Given the description of an element on the screen output the (x, y) to click on. 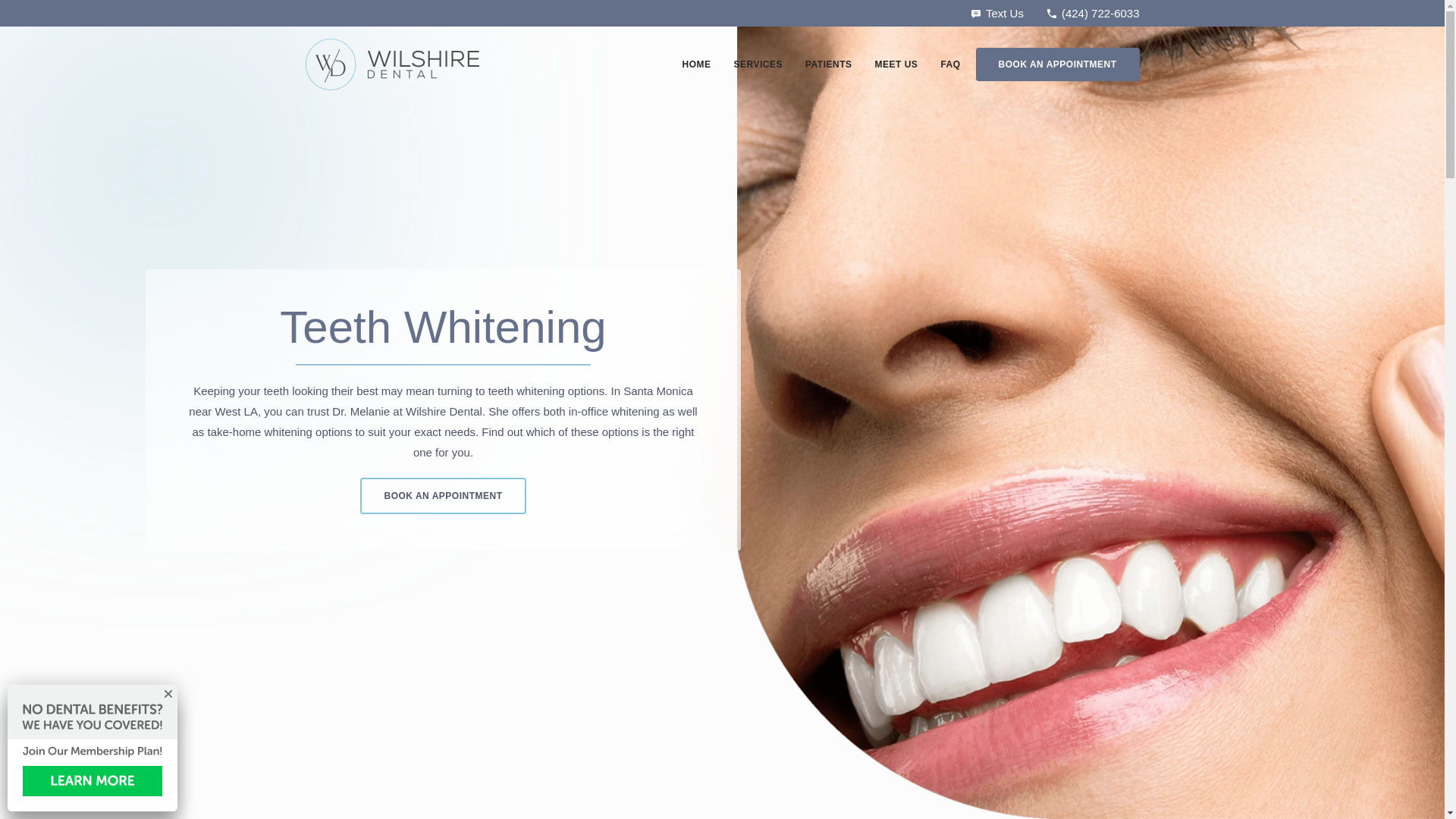
MEET US (896, 64)
BOOK AN APPOINTMENT (1057, 64)
Text Us (997, 13)
BOOK AN APPOINTMENT (443, 495)
